Given the description of an element on the screen output the (x, y) to click on. 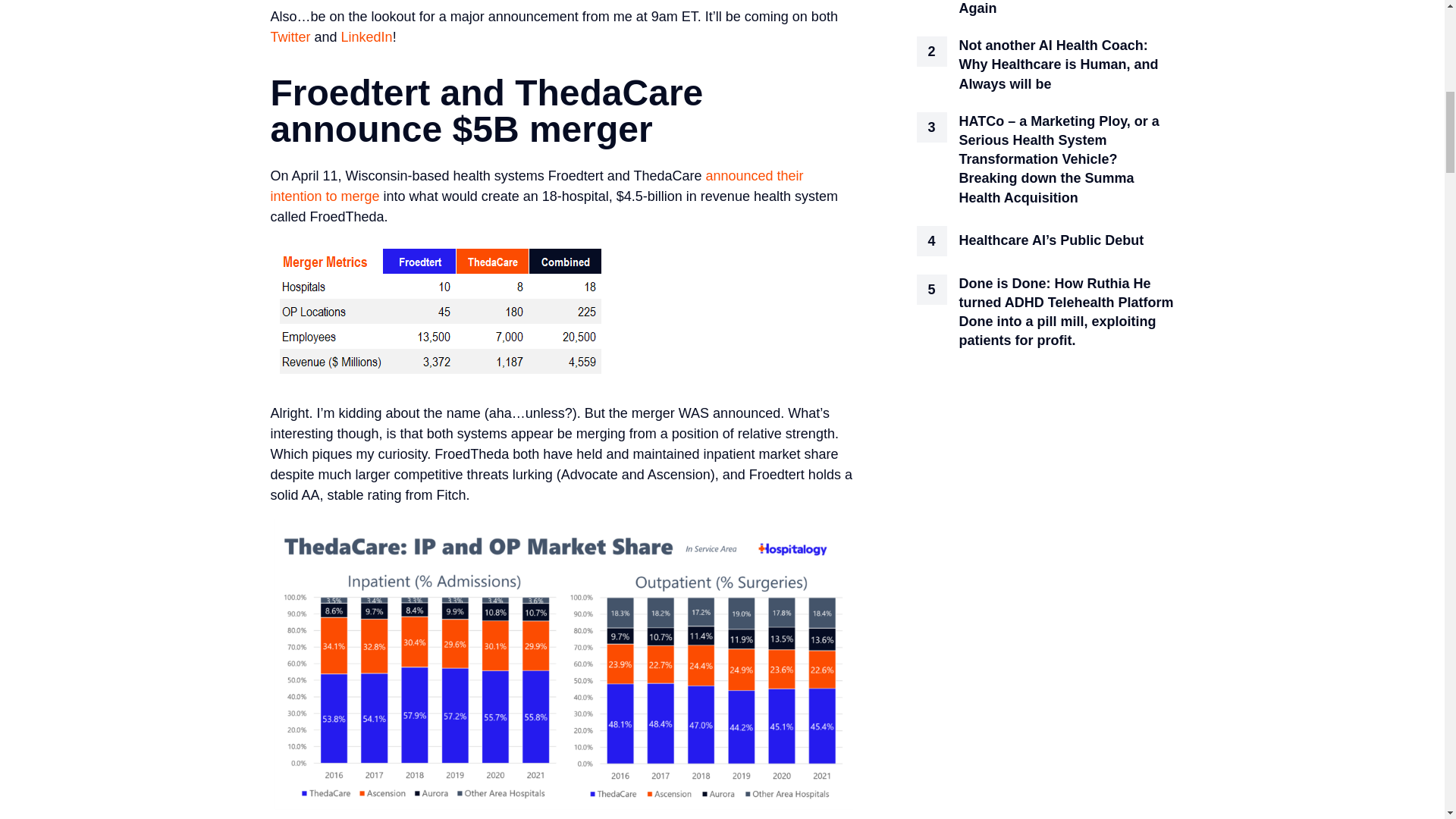
Twitter (289, 37)
LinkedIn (366, 37)
announced their intention to merge (536, 185)
